Given the description of an element on the screen output the (x, y) to click on. 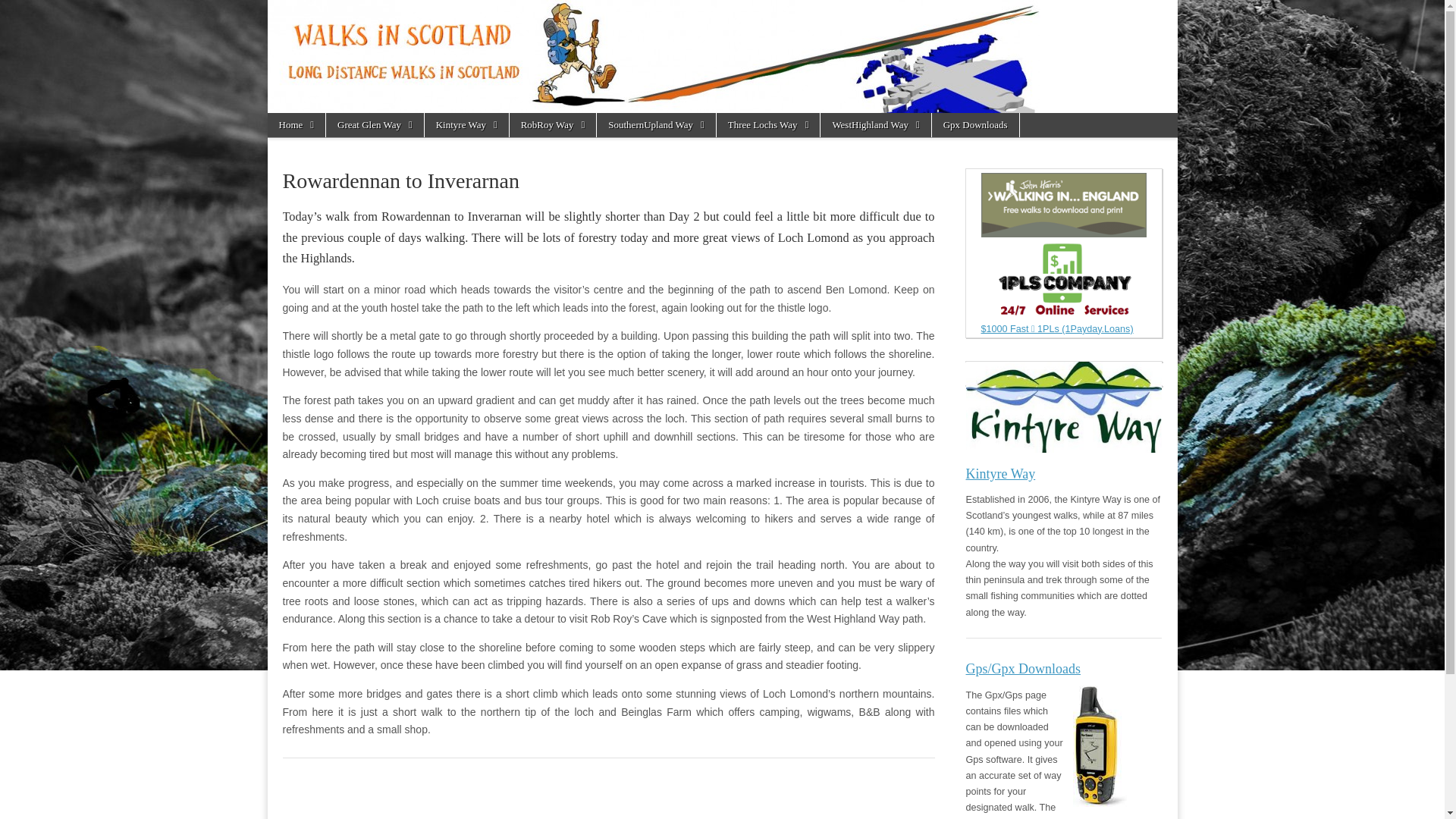
Walks in Scotland (345, 76)
Kintyre Way (1063, 421)
SouthernUpland Way (655, 125)
Home (295, 125)
Kintyre Way (466, 125)
Great Glen Way (374, 125)
RobRoy Way (552, 125)
1PLs Company - www.1Payday.Loans (1064, 286)
Walks in England (1064, 204)
Home (295, 125)
Walks in Scotland (345, 76)
Walks in Scotland (721, 56)
